Given the description of an element on the screen output the (x, y) to click on. 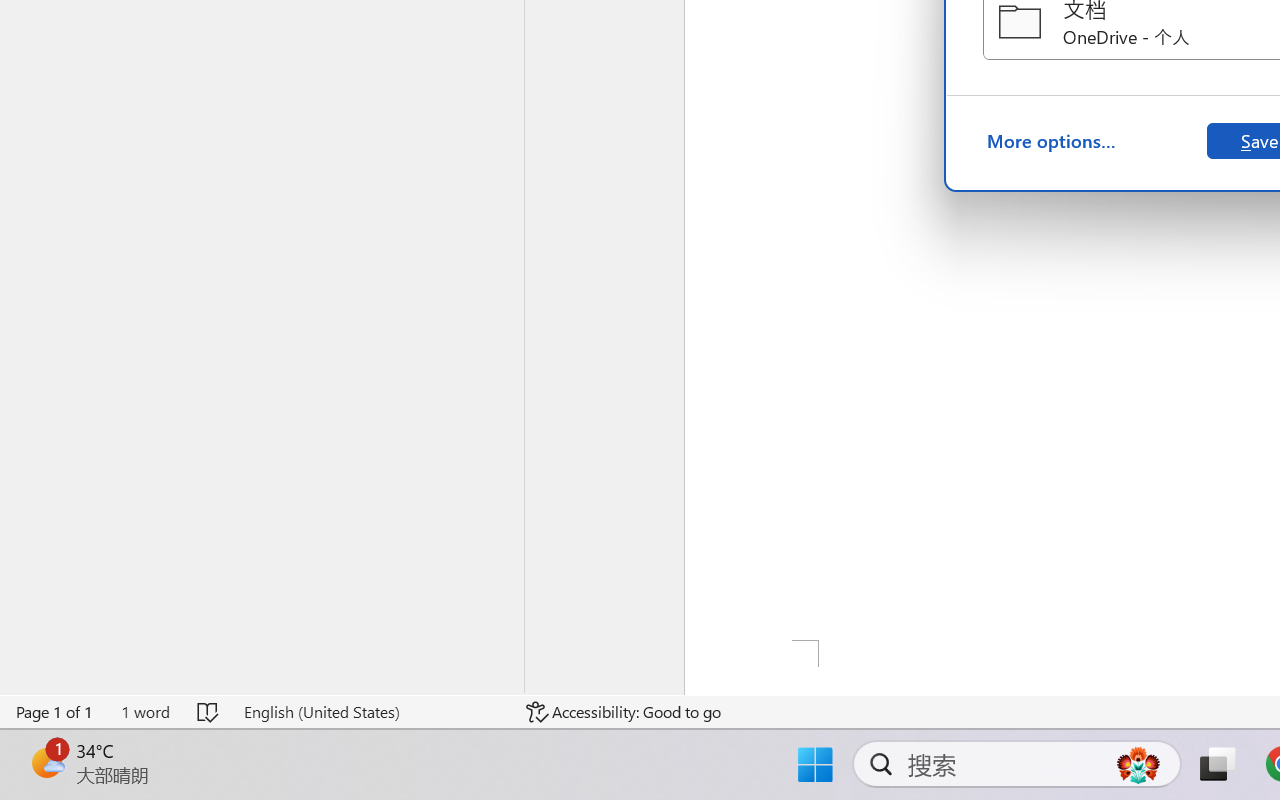
AutomationID: BadgeAnchorLargeTicker (46, 762)
AutomationID: DynamicSearchBoxGleamImage (1138, 764)
Word Count 1 word (145, 712)
Language English (United States) (370, 712)
Page Number Page 1 of 1 (55, 712)
Accessibility Checker Accessibility: Good to go (623, 712)
Spelling and Grammar Check No Errors (208, 712)
